Given the description of an element on the screen output the (x, y) to click on. 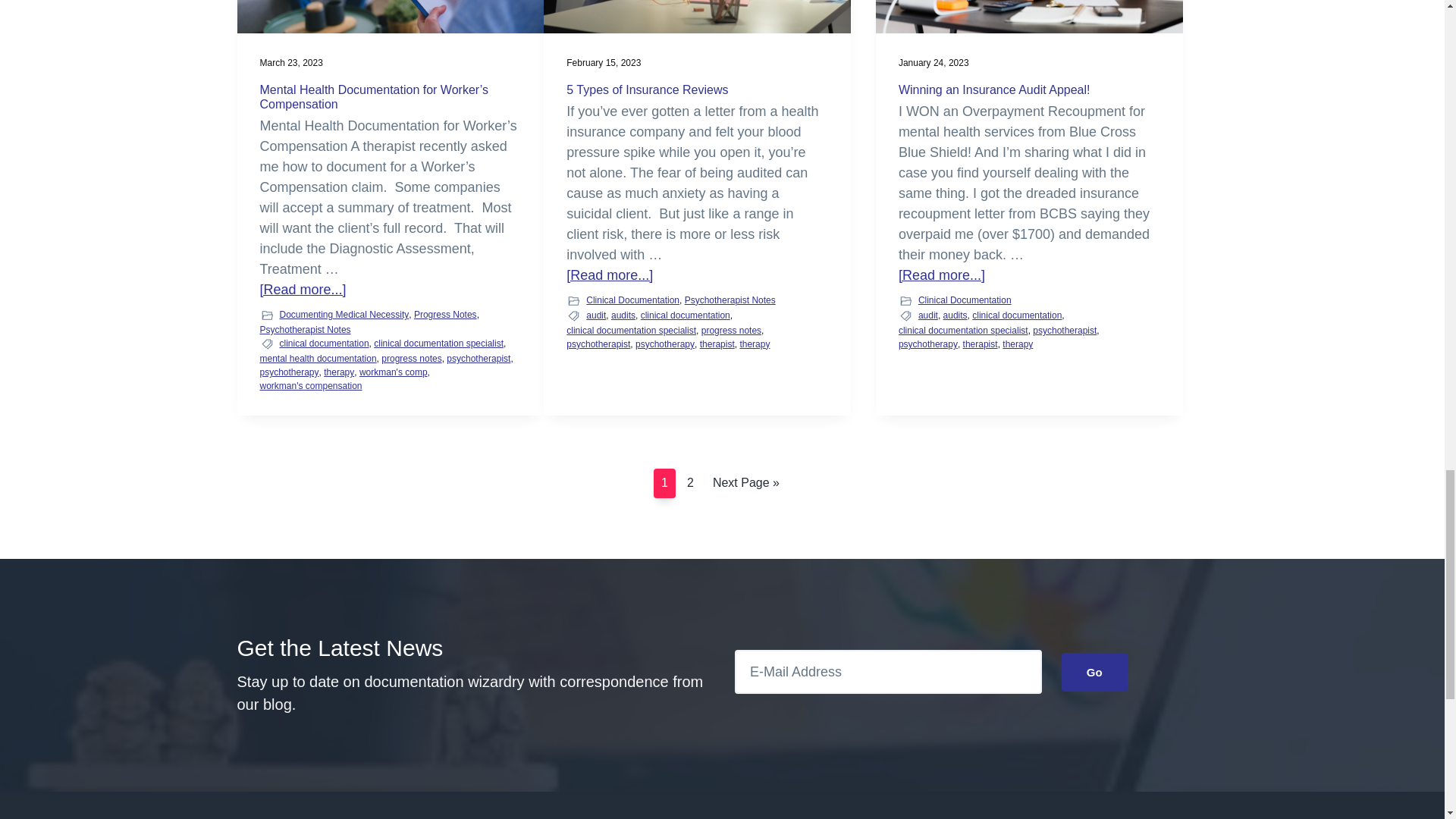
Go (1093, 671)
